Given the description of an element on the screen output the (x, y) to click on. 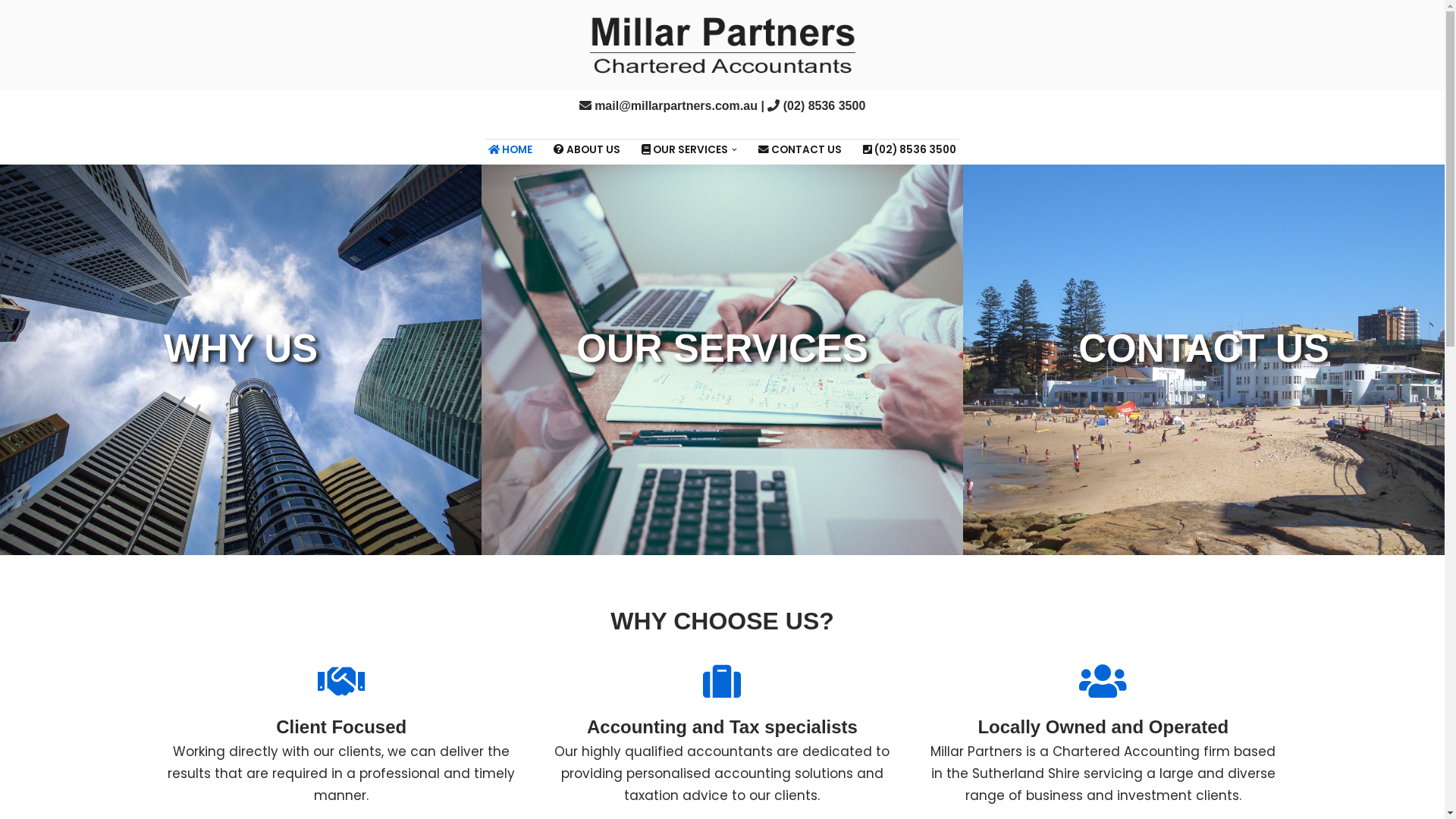
mail@millarpartners.com.au Element type: text (675, 105)
WHY US Element type: text (240, 357)
Millar Partners Element type: hover (722, 44)
(02) 8536 3500 Element type: text (909, 148)
(02) 8536 3500 Element type: text (824, 105)
WHY US Element type: text (240, 359)
CONTACT US Element type: text (799, 148)
CONTACT US Element type: text (1203, 359)
ABOUT US Element type: text (586, 148)
OUR SERVICES Element type: text (722, 357)
OUR SERVICES Element type: text (722, 359)
OUR SERVICES Element type: text (684, 148)
CONTACT US Element type: text (1203, 357)
HOME Element type: text (510, 148)
Skip to content Element type: text (11, 31)
